Given the description of an element on the screen output the (x, y) to click on. 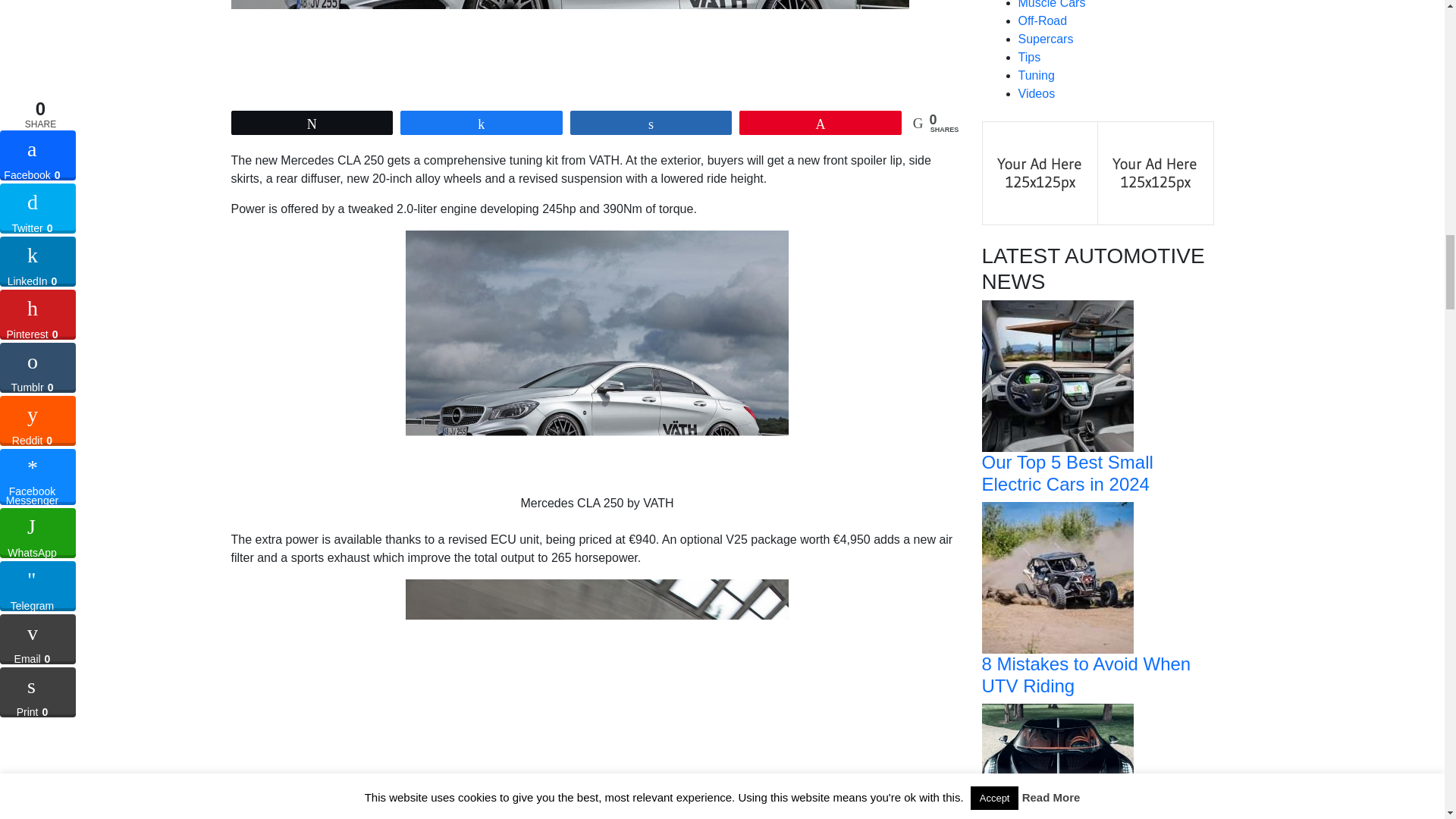
The Importance of Safety Features in Modern Supercars (1056, 778)
8 Mistakes to Avoid When UTV Riding (1056, 576)
Advertise (1155, 172)
Our Top 5 Best Small Electric Cars in 2024 (1056, 375)
Advertise (1039, 172)
